Given the description of an element on the screen output the (x, y) to click on. 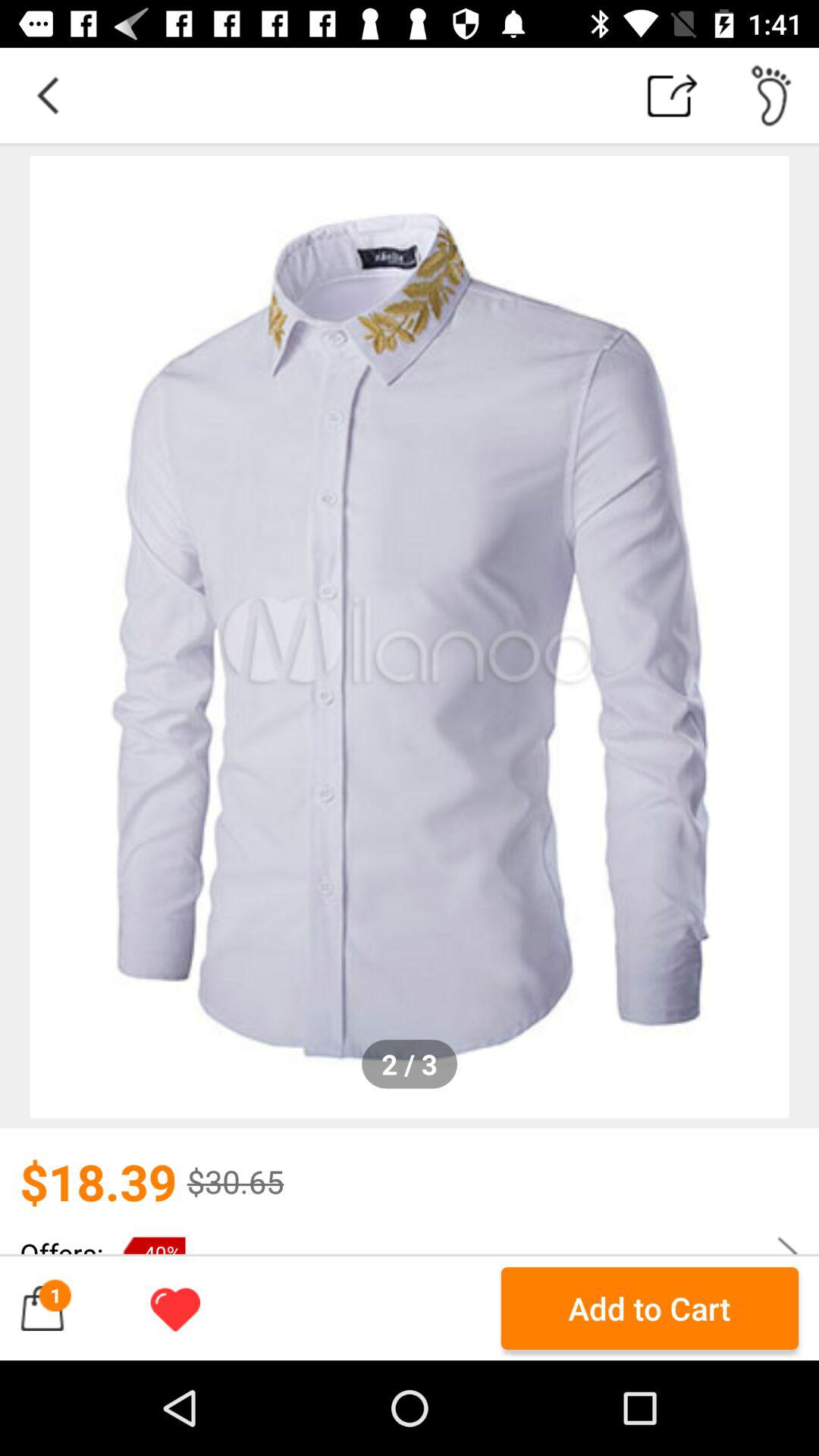
scroll to add to cart icon (649, 1308)
